Given the description of an element on the screen output the (x, y) to click on. 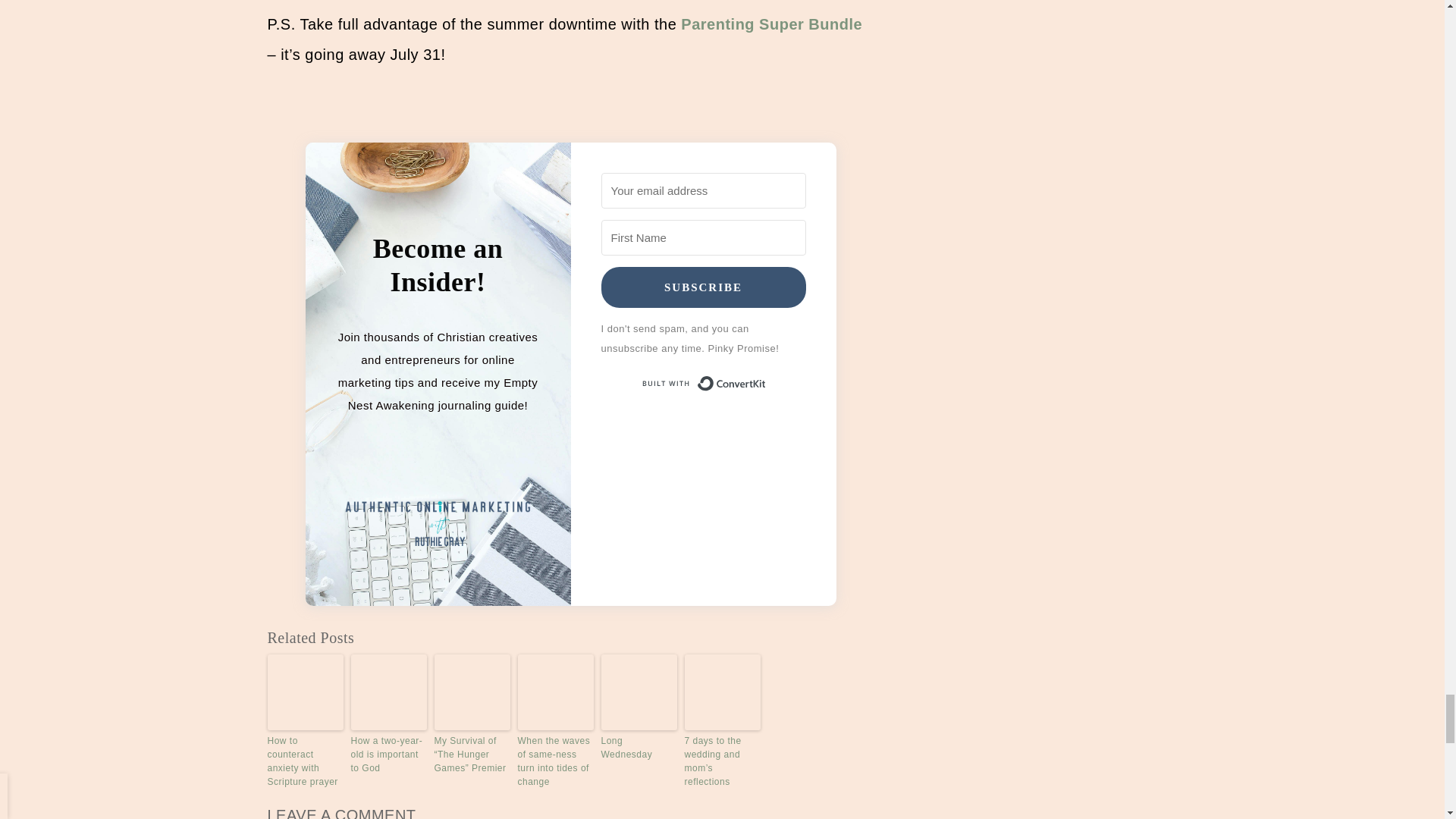
Built with ConvertKit (702, 383)
Long Wednesday (638, 747)
Parenting Super Bundle (771, 23)
When the waves of same-ness turn into tides of change (554, 760)
How a two-year-old is important to God (388, 753)
How to counteract anxiety with Scripture prayer (304, 760)
SUBSCRIBE (702, 286)
